Given the description of an element on the screen output the (x, y) to click on. 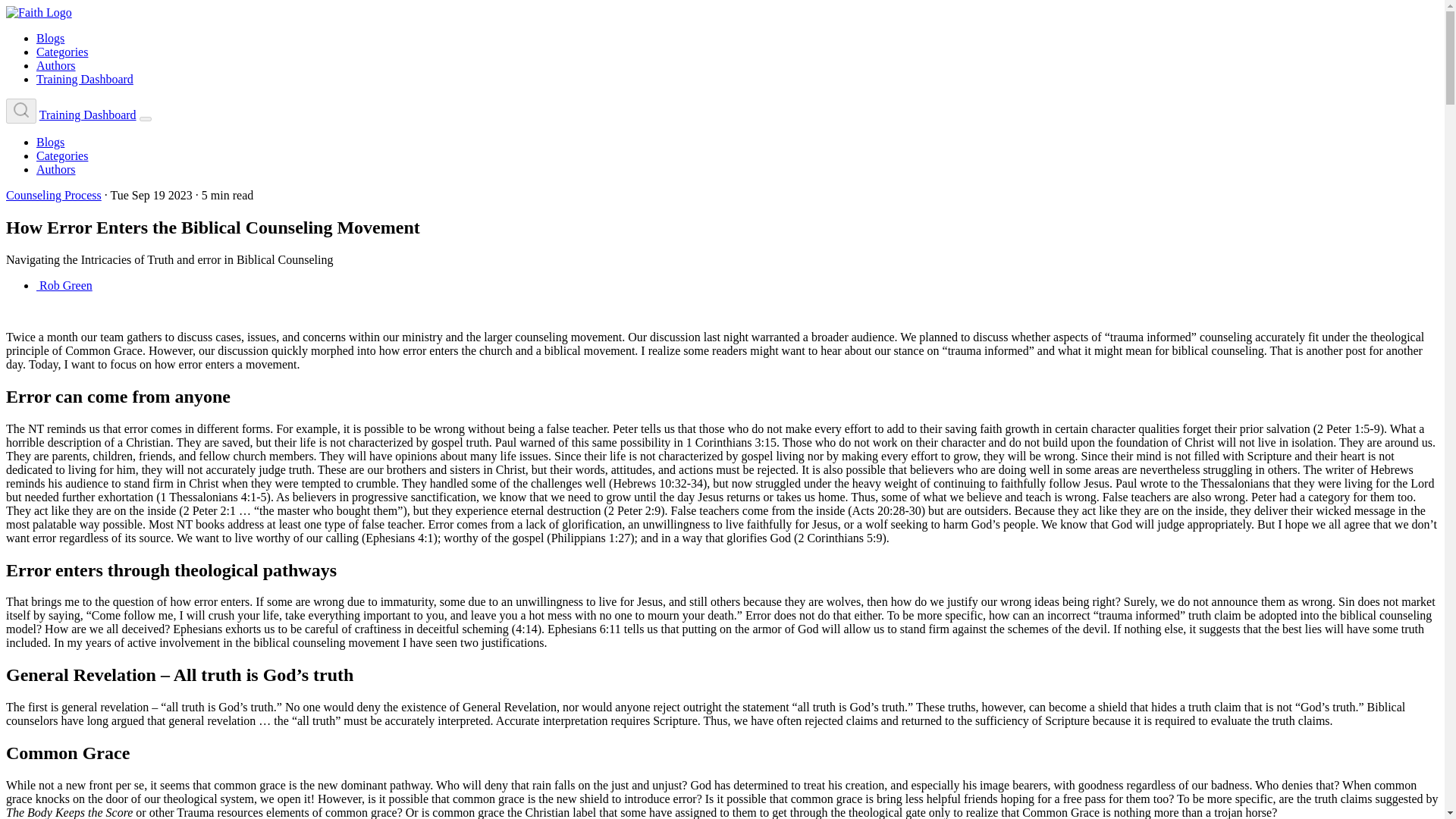
Counseling Process (53, 195)
Categories (61, 155)
Rob Green (64, 285)
Blogs (50, 141)
Authors (55, 169)
Training Dashboard (87, 114)
Search (20, 110)
Blogs (50, 38)
Authors (55, 65)
Categories (61, 51)
